Given the description of an element on the screen output the (x, y) to click on. 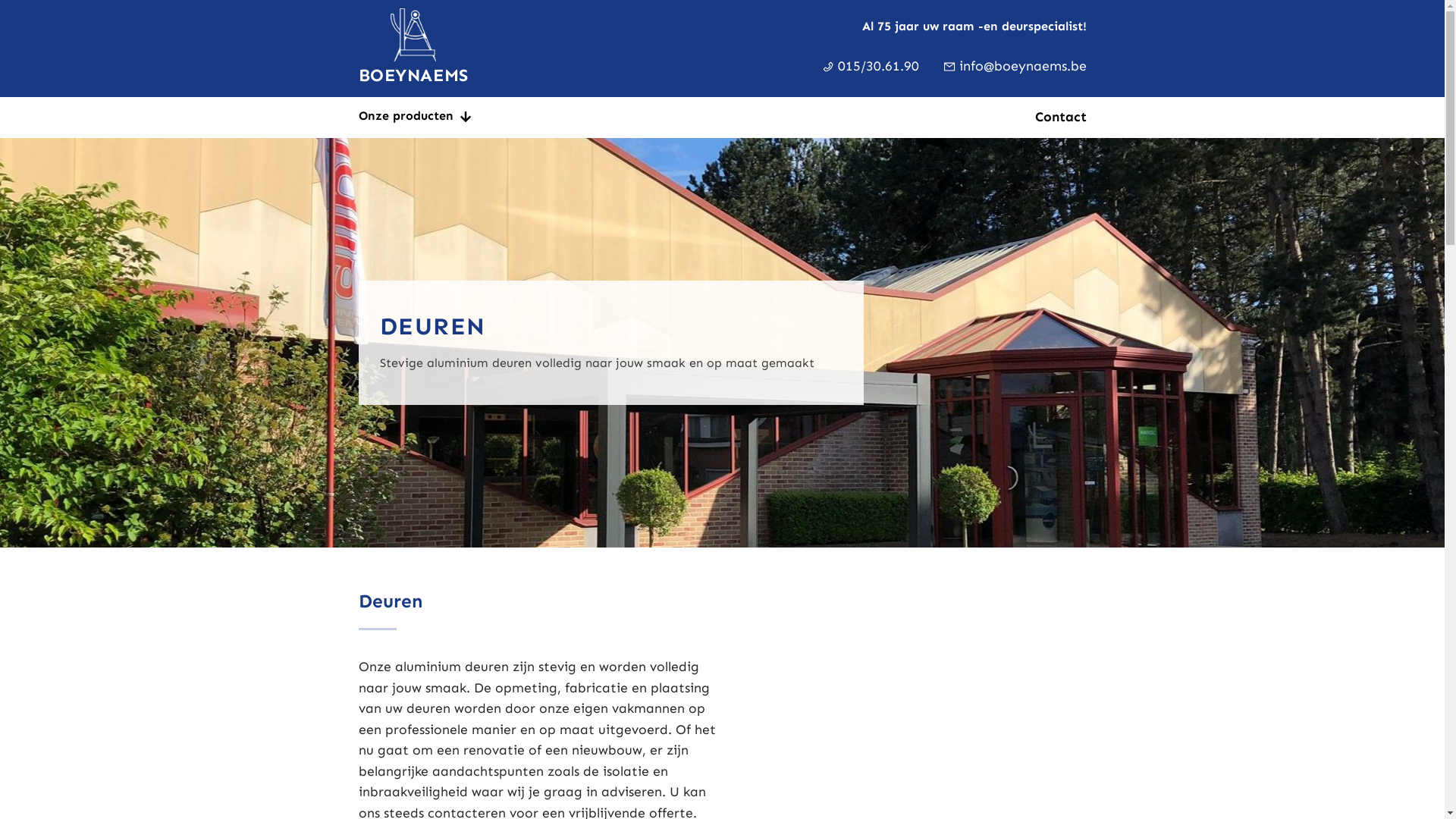
015/30.61.90 Element type: text (876, 66)
BOEYNAEMS Element type: text (412, 47)
info@boeynaems.be Element type: text (1020, 66)
Contact Element type: text (1059, 117)
